Given the description of an element on the screen output the (x, y) to click on. 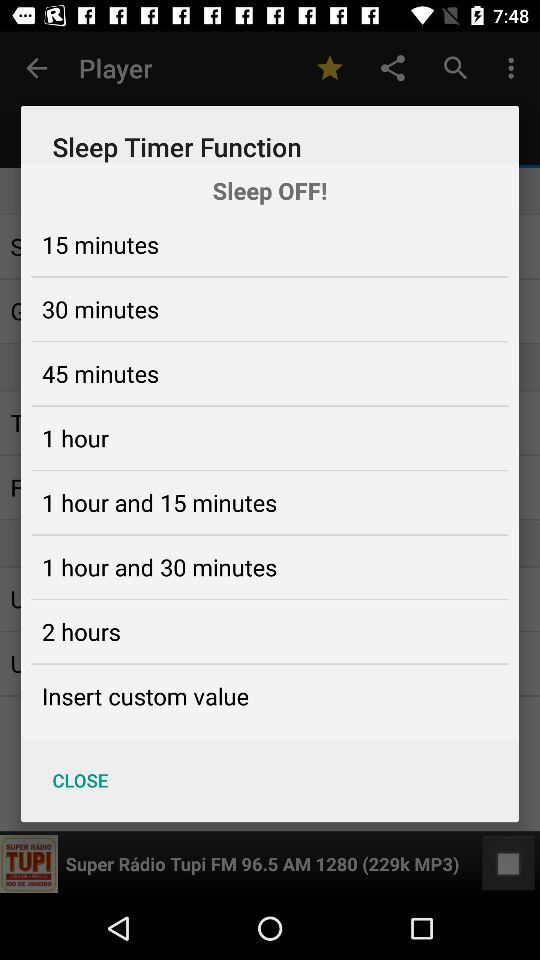
turn on item above the 1 hour icon (100, 373)
